Given the description of an element on the screen output the (x, y) to click on. 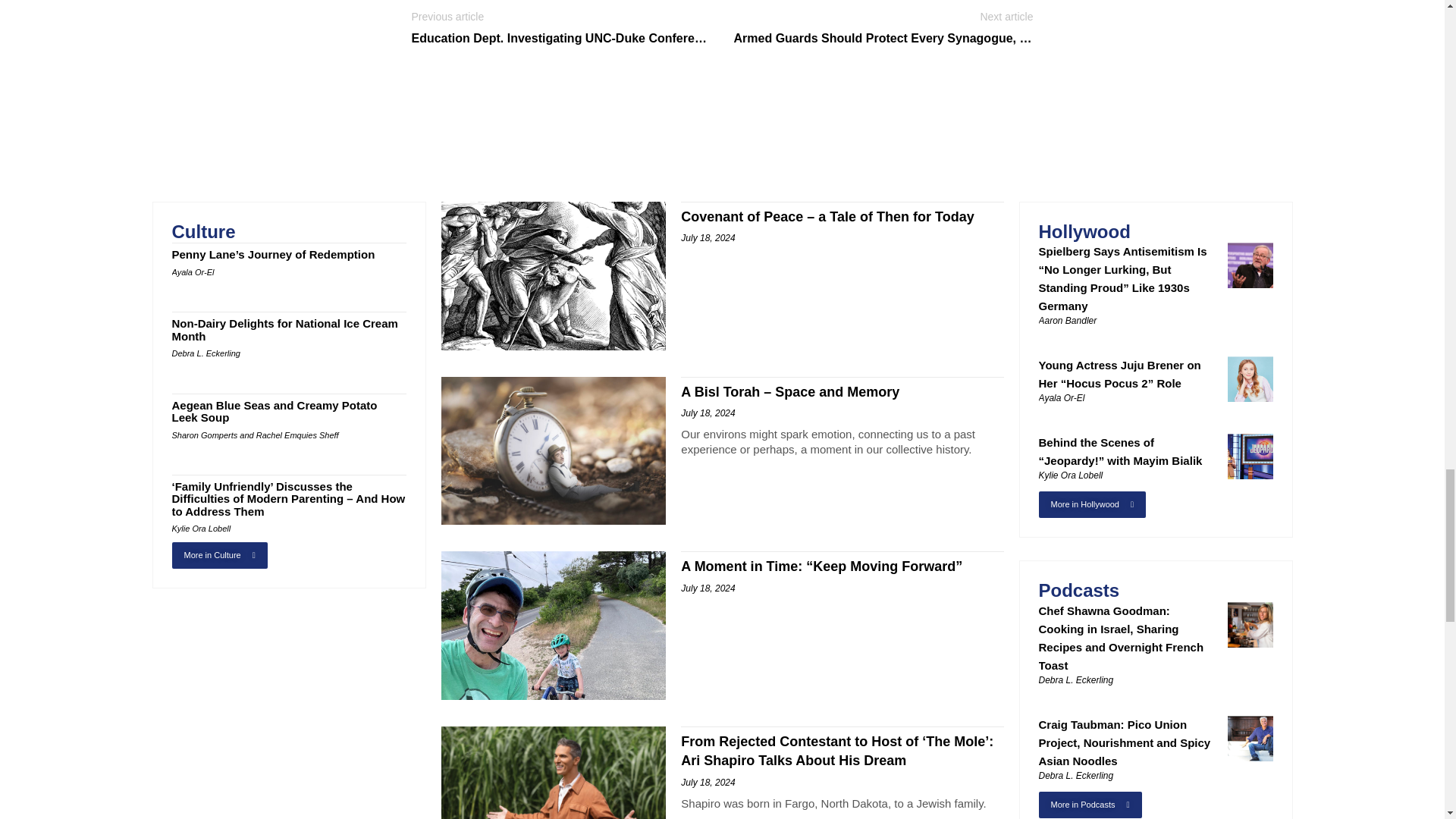
3rd party ad content (721, 110)
